Given the description of an element on the screen output the (x, y) to click on. 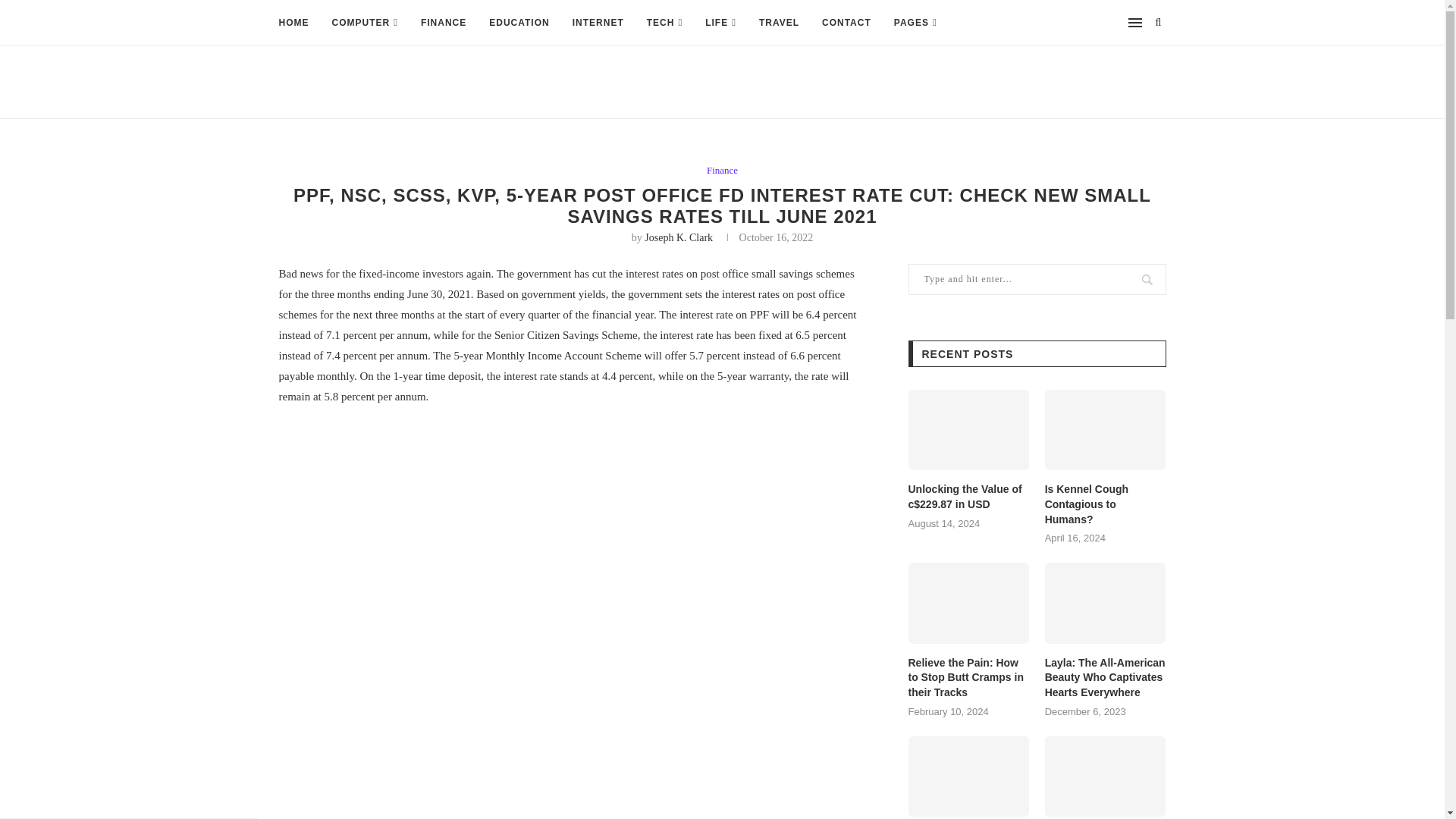
COMPUTER (364, 22)
FINANCE (442, 22)
EDUCATION (518, 22)
INTERNET (598, 22)
